Given the description of an element on the screen output the (x, y) to click on. 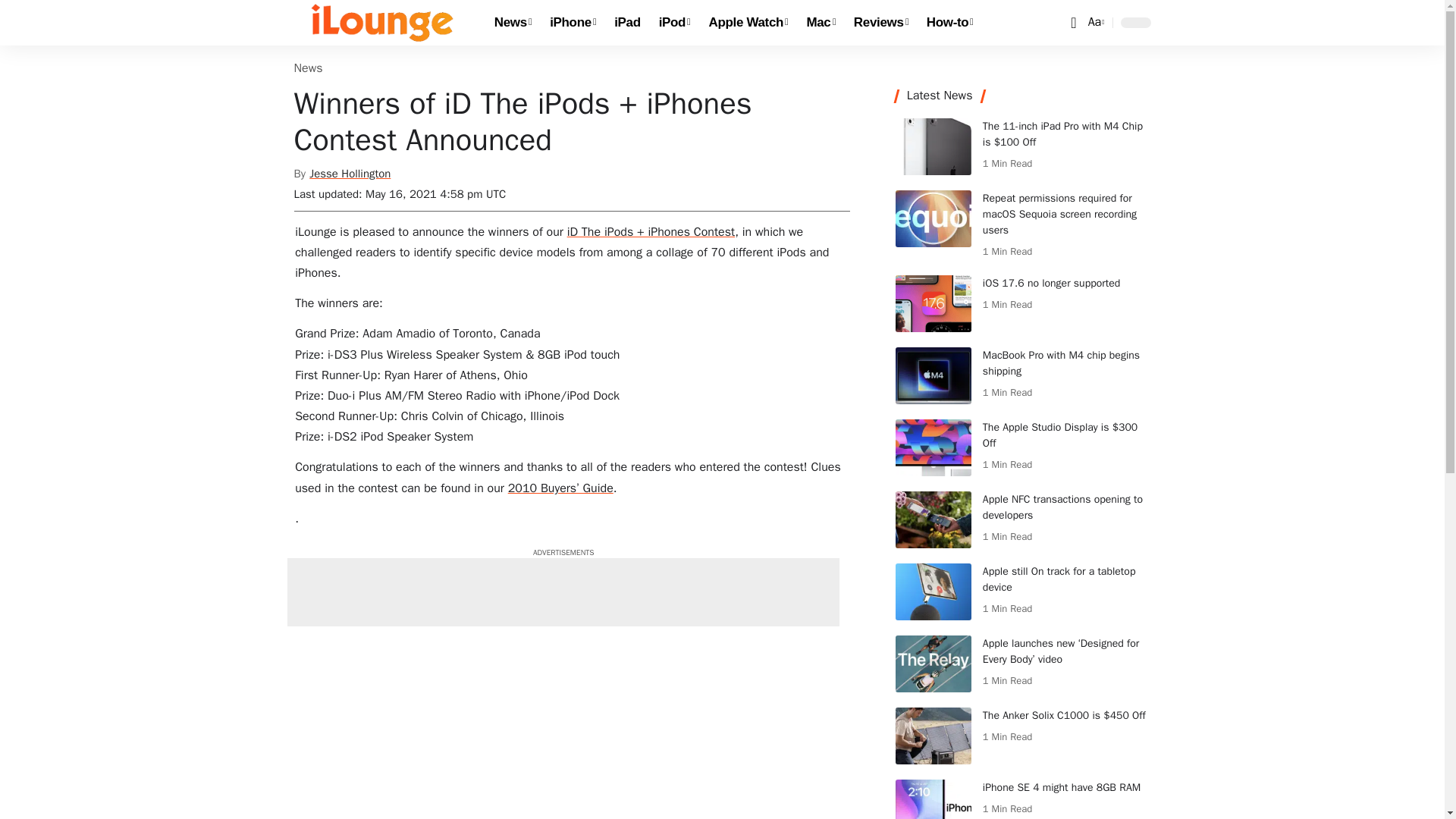
iPod (674, 22)
iOS 17.6 no longer supported (933, 303)
Apple still On track for a tabletop device (933, 591)
Apple NFC transactions opening to developers (933, 519)
Reviews (880, 22)
How-to (949, 22)
News (512, 22)
iPhone SE 4 might have 8GB RAM (933, 799)
Advertisement (563, 591)
